Given the description of an element on the screen output the (x, y) to click on. 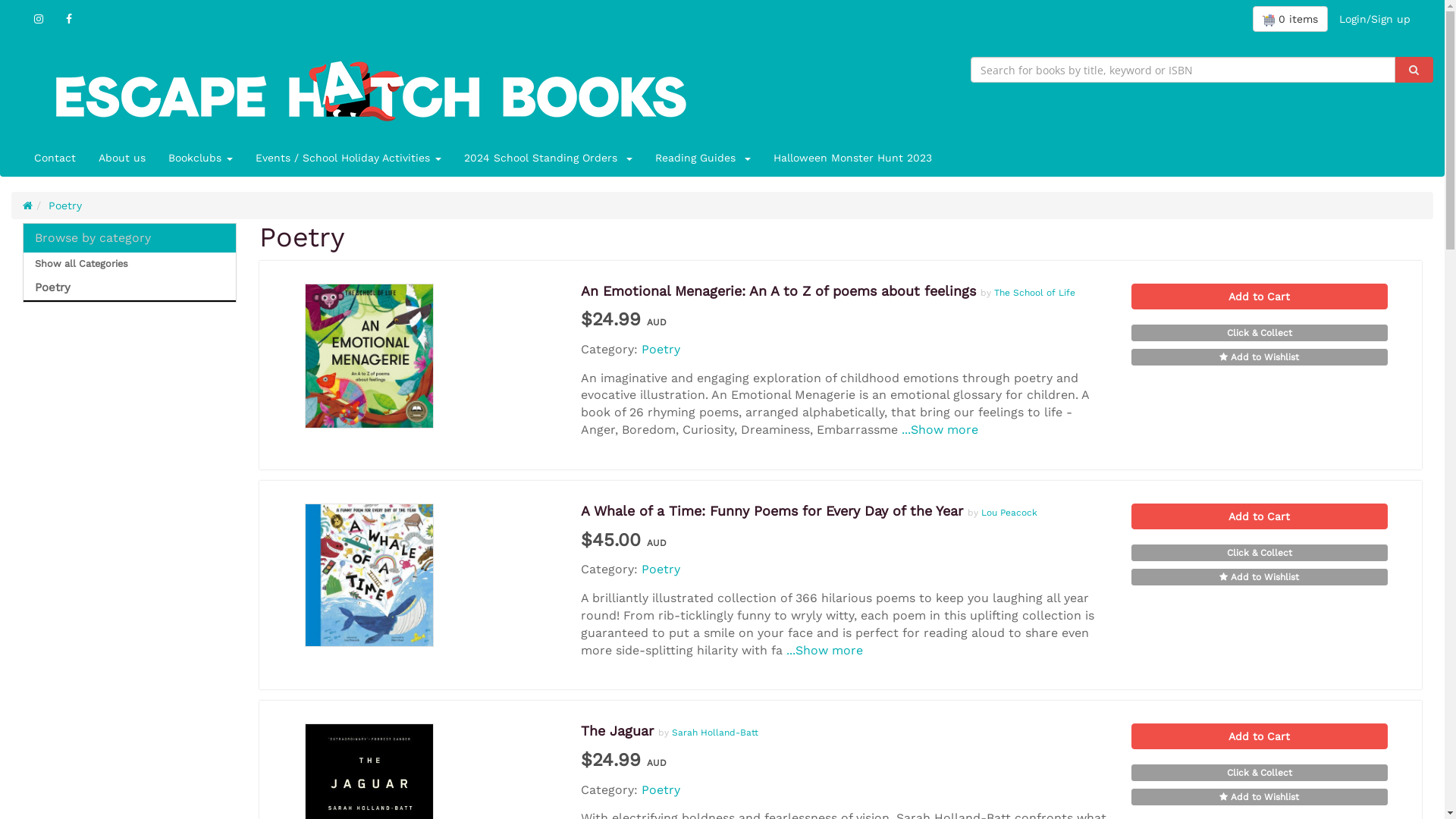
The School of Life Element type: text (1034, 292)
The Jaguar Element type: text (616, 730)
Poetry Element type: text (64, 205)
Poetry Element type: text (660, 789)
Click & Collect Element type: text (1259, 332)
Add to Cart Element type: text (1259, 516)
0 items Element type: text (1289, 18)
Poetry Element type: text (302, 237)
Click & Collect Element type: text (1259, 552)
Reading Guides   Element type: text (702, 157)
Poetry Element type: text (660, 349)
An Emotional Menagerie: An A to Z of poems about feelings Element type: text (777, 290)
Click & Collect Element type: text (1259, 772)
Poetry Element type: text (660, 568)
Lou Peacock Element type: text (1009, 512)
Halloween Monster Hunt 2023 Element type: text (852, 157)
About us Element type: text (121, 157)
Show all Categories Element type: text (129, 263)
Add to Cart Element type: text (1259, 736)
0 items Element type: text (1289, 18)
...Show more Element type: text (939, 429)
A Whale of a Time: Funny Poems for Every Day of the Year Element type: text (771, 510)
Add to Wishlist Element type: text (1259, 576)
Poetry Element type: text (129, 287)
Add to Wishlist Element type: text (1259, 356)
Contact Element type: text (54, 157)
...Show more Element type: text (824, 650)
Add to Cart Element type: text (1259, 296)
Bookclubs  Element type: text (200, 157)
Add to Wishlist Element type: text (1259, 796)
2024 School Standing Orders   Element type: text (547, 157)
Events / School Holiday Activities  Element type: text (348, 157)
Login/Sign up Element type: text (1374, 18)
Sarah Holland-Batt Element type: text (714, 732)
